Given the description of an element on the screen output the (x, y) to click on. 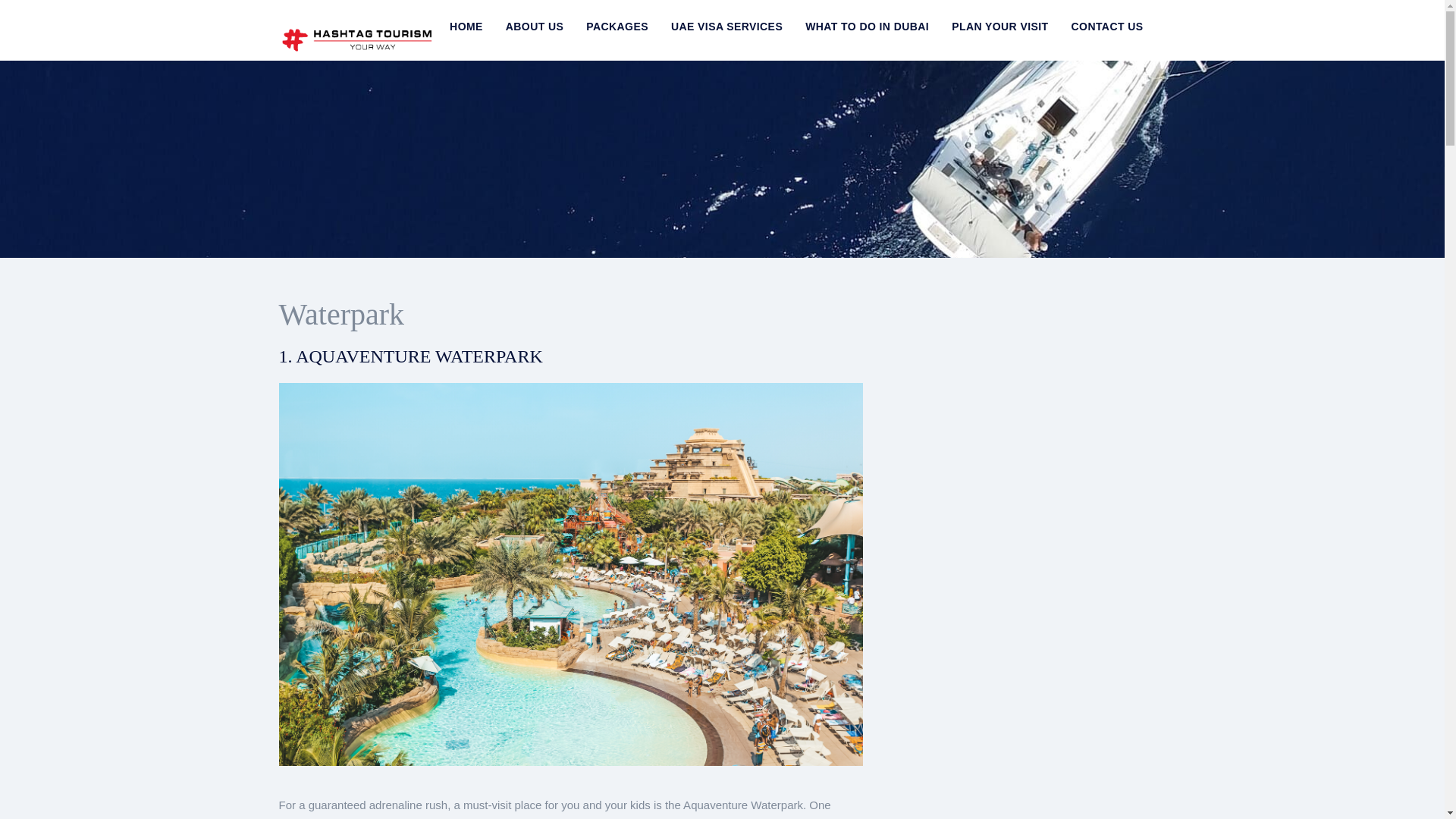
ABOUT US (534, 26)
PLAN YOUR VISIT (1000, 26)
Hashtag.Me (359, 29)
PACKAGES (616, 26)
WHAT TO DO IN DUBAI (866, 26)
Hashtag.Me - Water Sports HTML Template (359, 30)
CONTACT US (1106, 26)
UAE VISA SERVICES (727, 26)
